Given the description of an element on the screen output the (x, y) to click on. 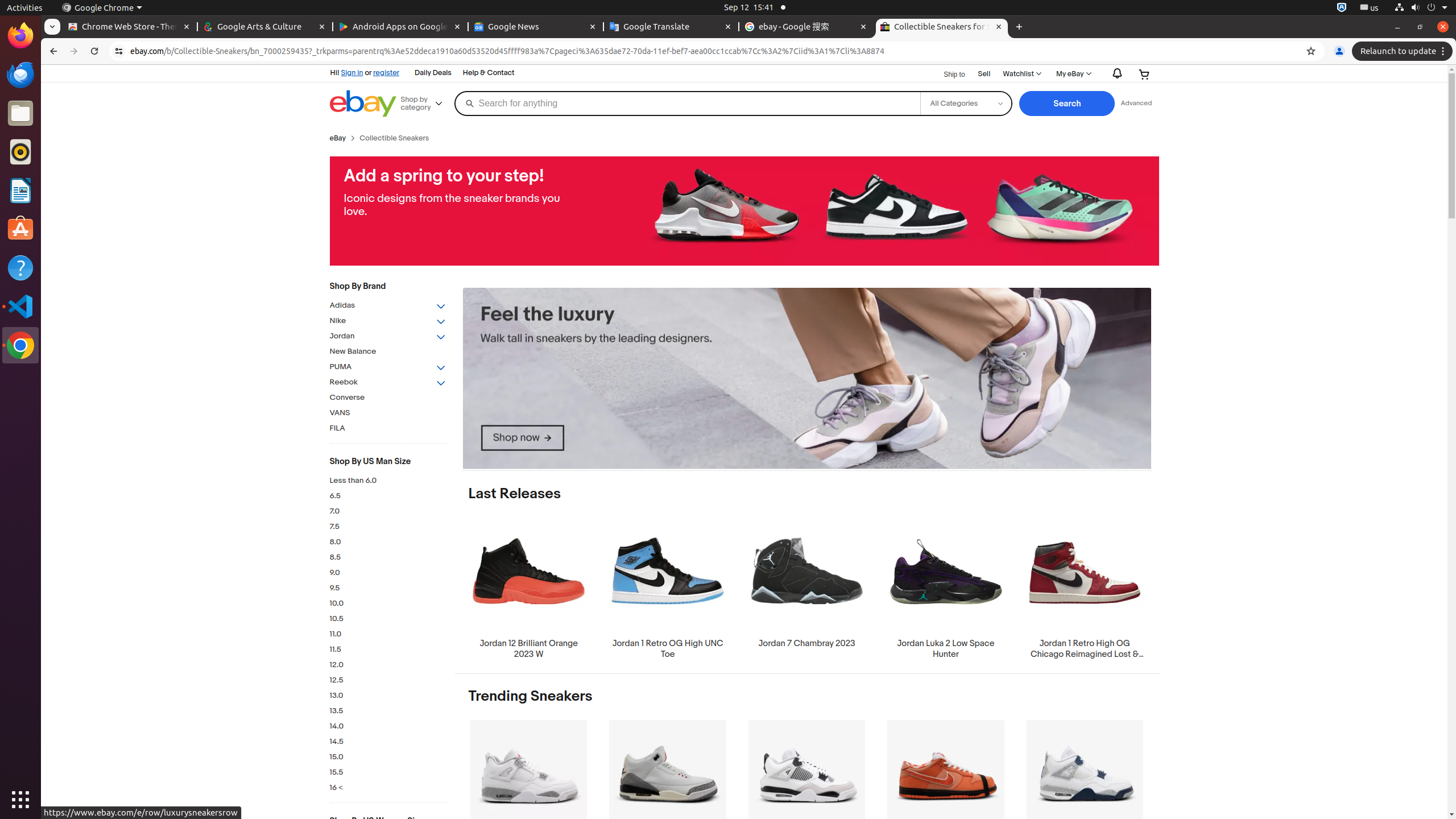
Jordan Luka 2 Low Space Hunter Element type: link (945, 587)
Files Element type: push-button (20, 113)
New Tab Element type: push-button (1019, 26)
Jordan 12 Brilliant Orange 2023 W Element type: link (528, 587)
Jordan 1 Retro OG High UNC Toe Element type: link (667, 587)
